Given the description of an element on the screen output the (x, y) to click on. 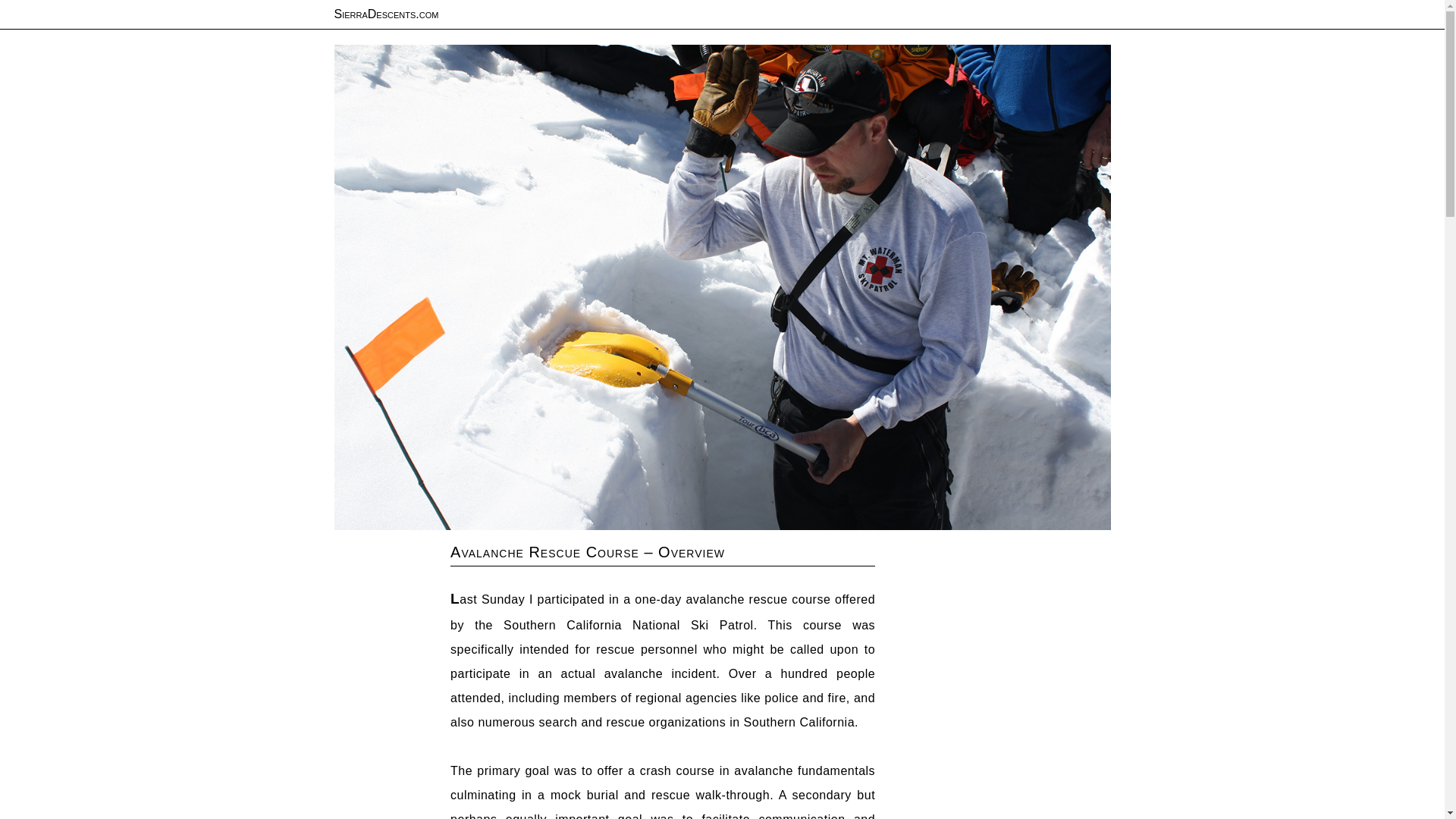
SierraDescents.com (385, 13)
